Given the description of an element on the screen output the (x, y) to click on. 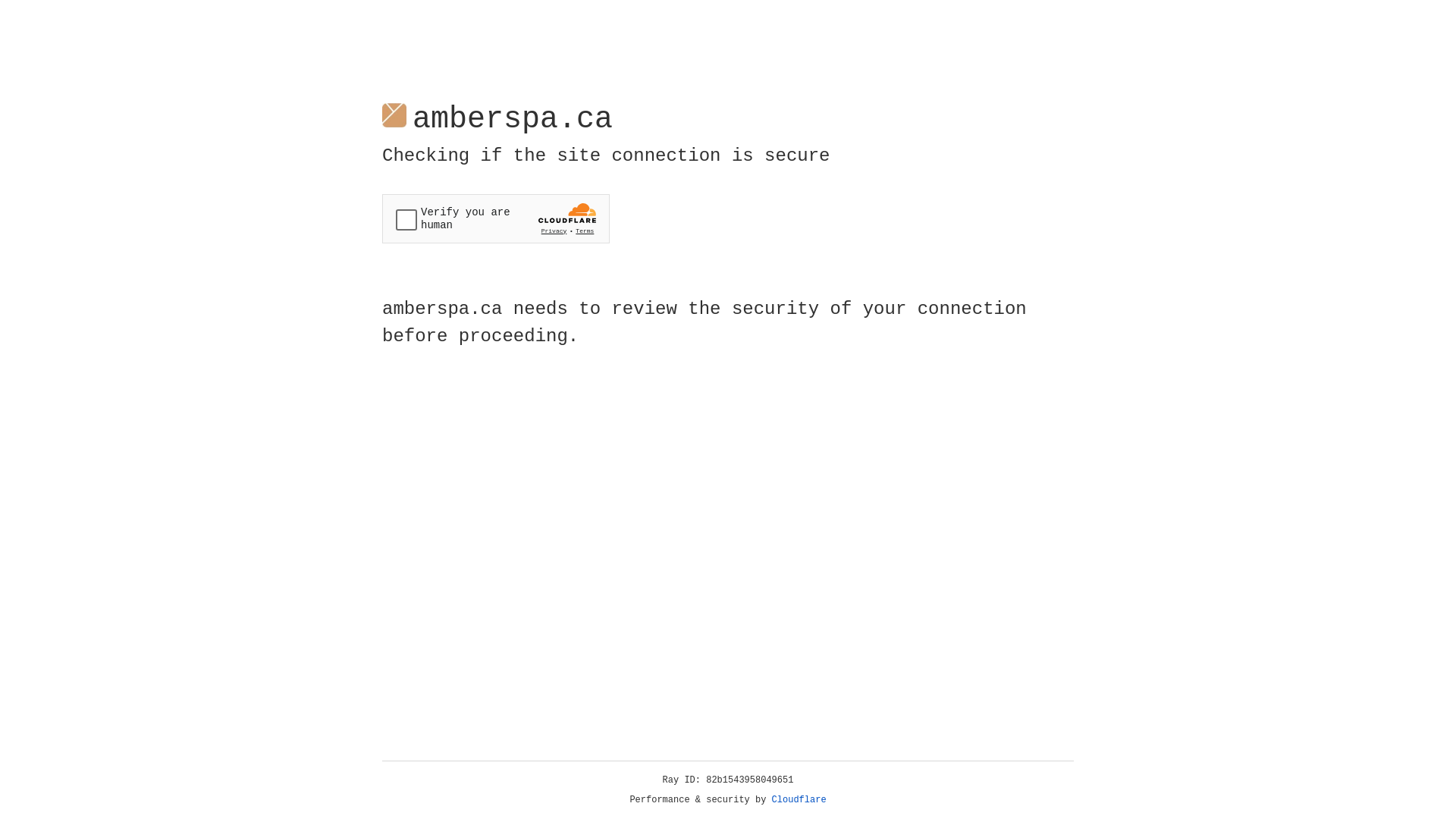
Cloudflare Element type: text (798, 799)
Widget containing a Cloudflare security challenge Element type: hover (495, 218)
